Given the description of an element on the screen output the (x, y) to click on. 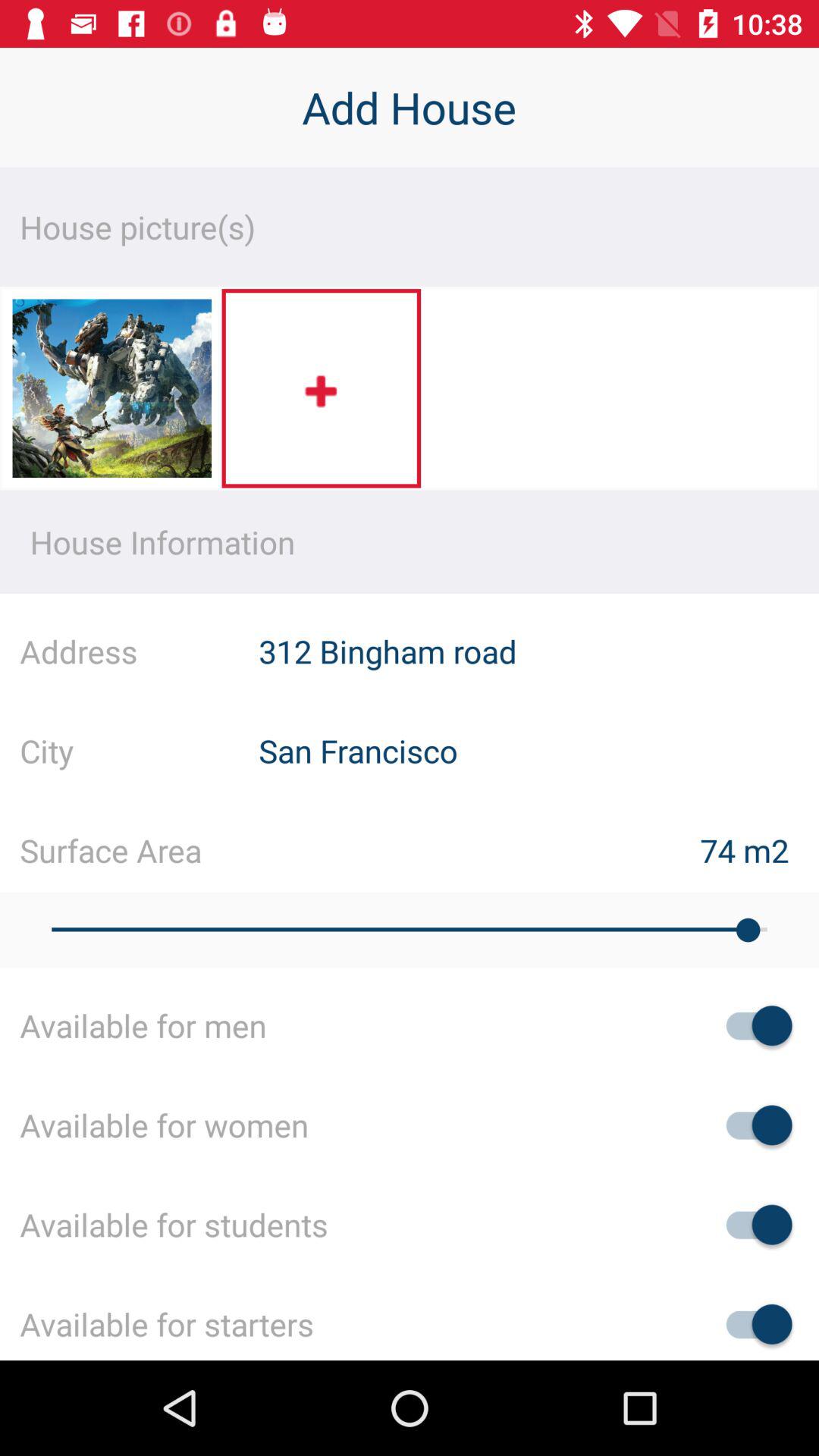
turn on the item next to the address item (538, 650)
